Given the description of an element on the screen output the (x, y) to click on. 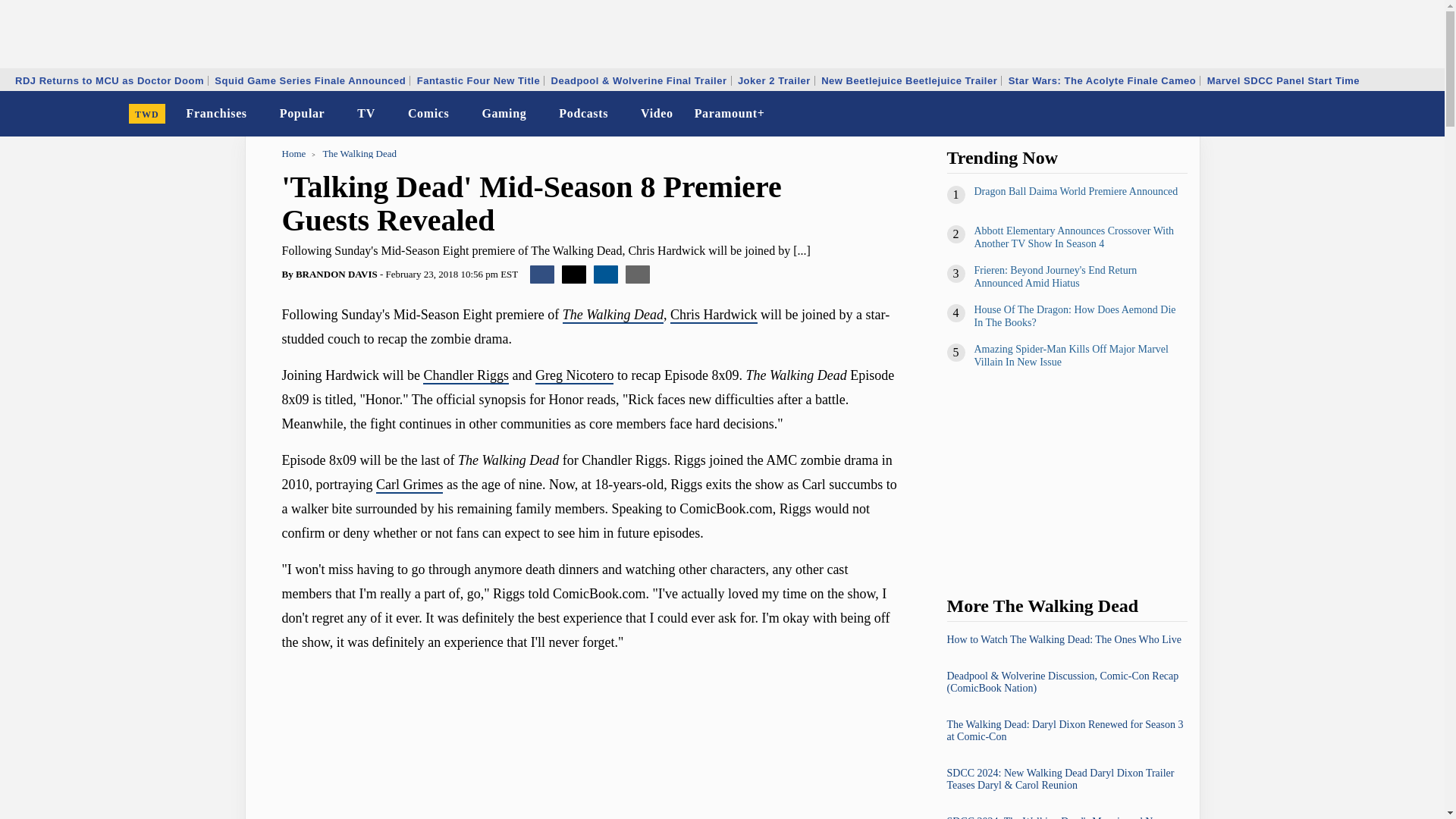
Fantastic Four New Title (478, 80)
TWD (146, 113)
Comics (428, 113)
Squid Game Series Finale Announced (310, 80)
Joker 2 Trailer (773, 80)
Star Wars: The Acolyte Finale Cameo (1101, 80)
Popular (302, 113)
New Beetlejuice Beetlejuice Trailer (908, 80)
Gaming (504, 113)
Marvel SDCC Panel Start Time (1283, 80)
RDJ Returns to MCU as Doctor Doom (109, 80)
Dark Mode (1394, 113)
Search (1422, 114)
